Given the description of an element on the screen output the (x, y) to click on. 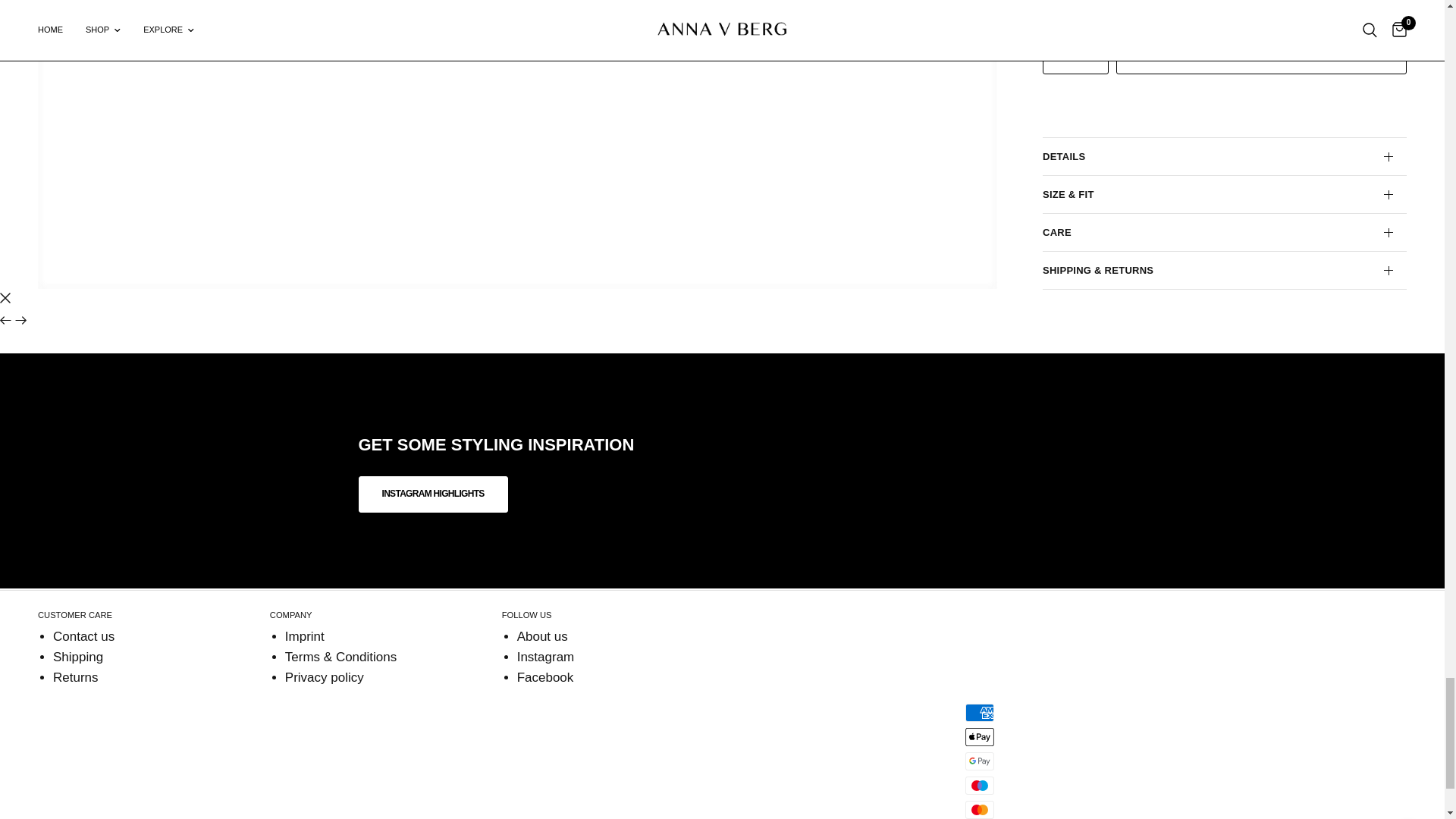
Maestro (979, 785)
Apple Pay (979, 737)
American Express (979, 712)
Mastercard (979, 809)
Google Pay (979, 761)
